Given the description of an element on the screen output the (x, y) to click on. 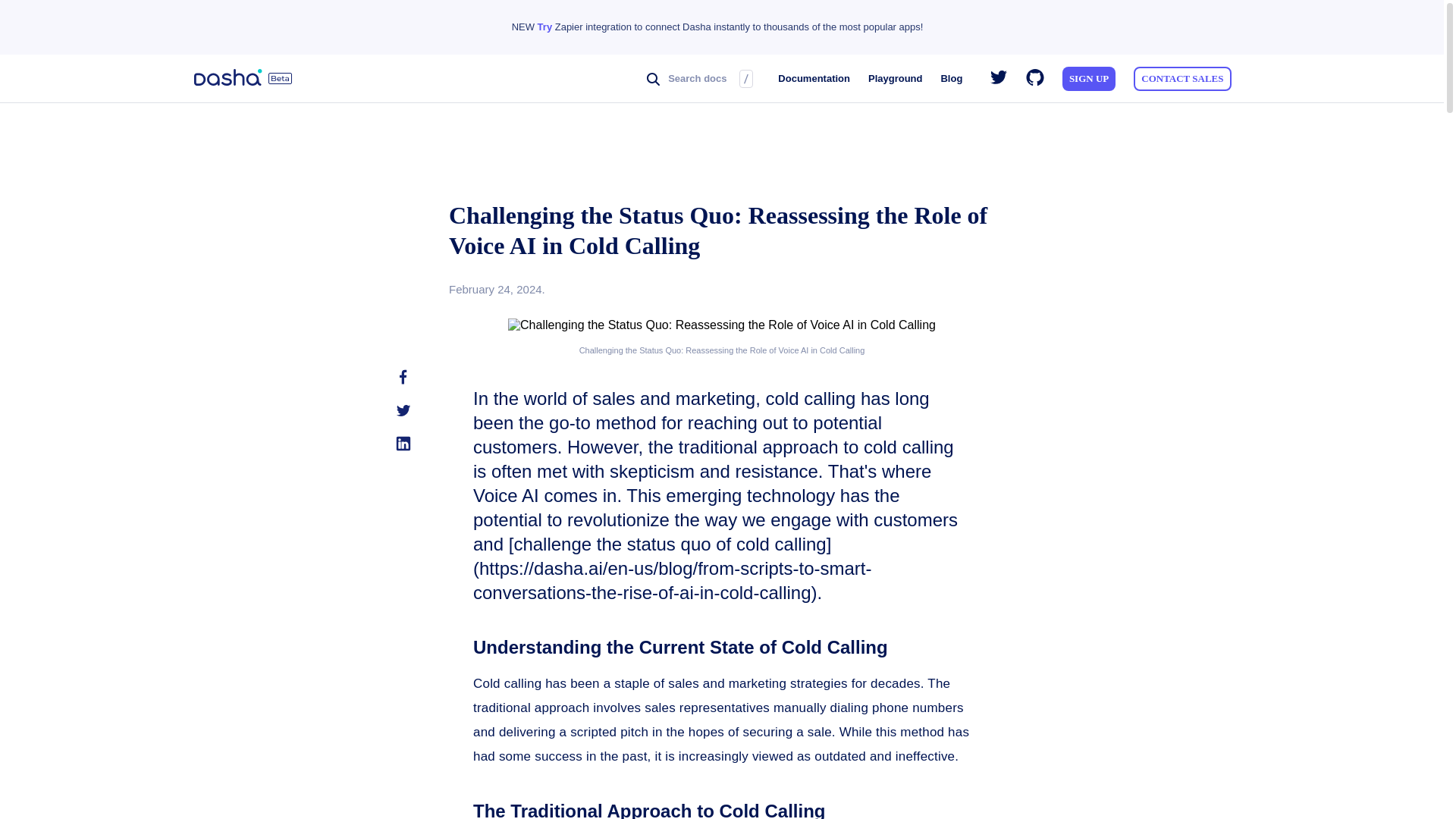
Search docs (655, 78)
Documentation (813, 78)
CONTACT SALES (1182, 78)
Try (545, 26)
Playground (895, 78)
SIGN UP (1088, 78)
Blog (951, 78)
